Given the description of an element on the screen output the (x, y) to click on. 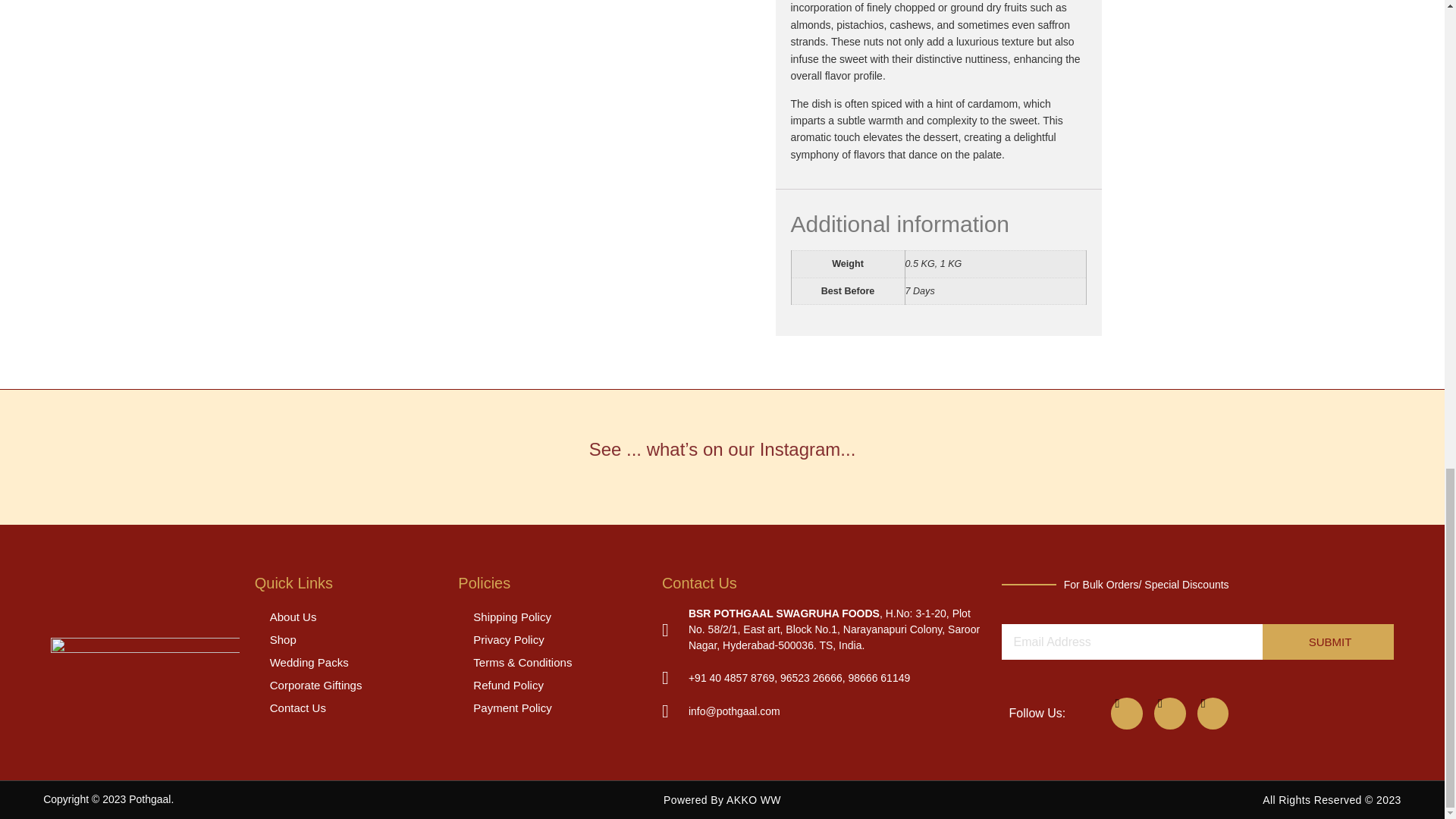
Shop (349, 639)
About Us (349, 617)
Corporate Giftings (349, 685)
Wedding Packs (349, 662)
